Given the description of an element on the screen output the (x, y) to click on. 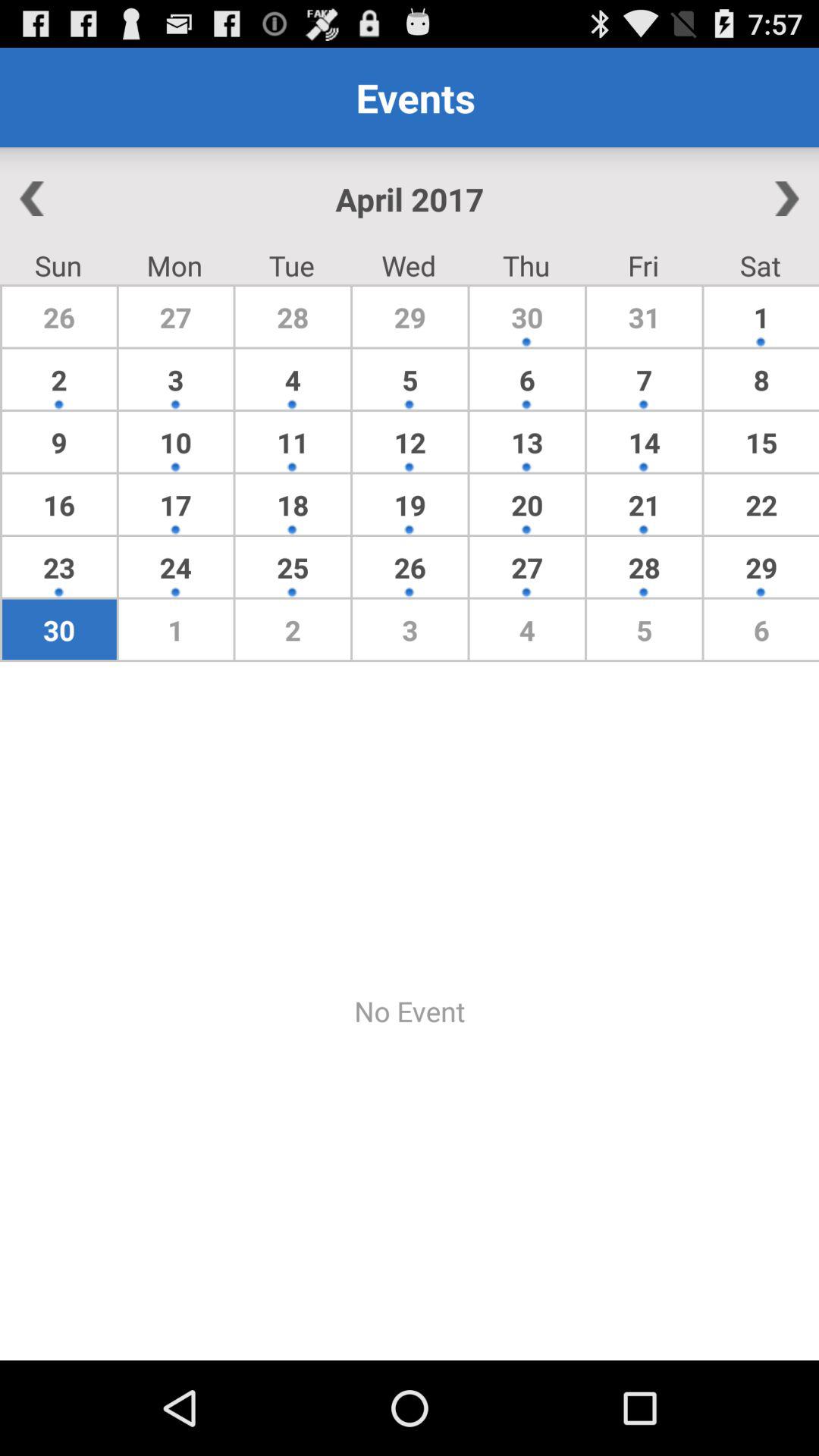
open item below 3 icon (292, 441)
